Given the description of an element on the screen output the (x, y) to click on. 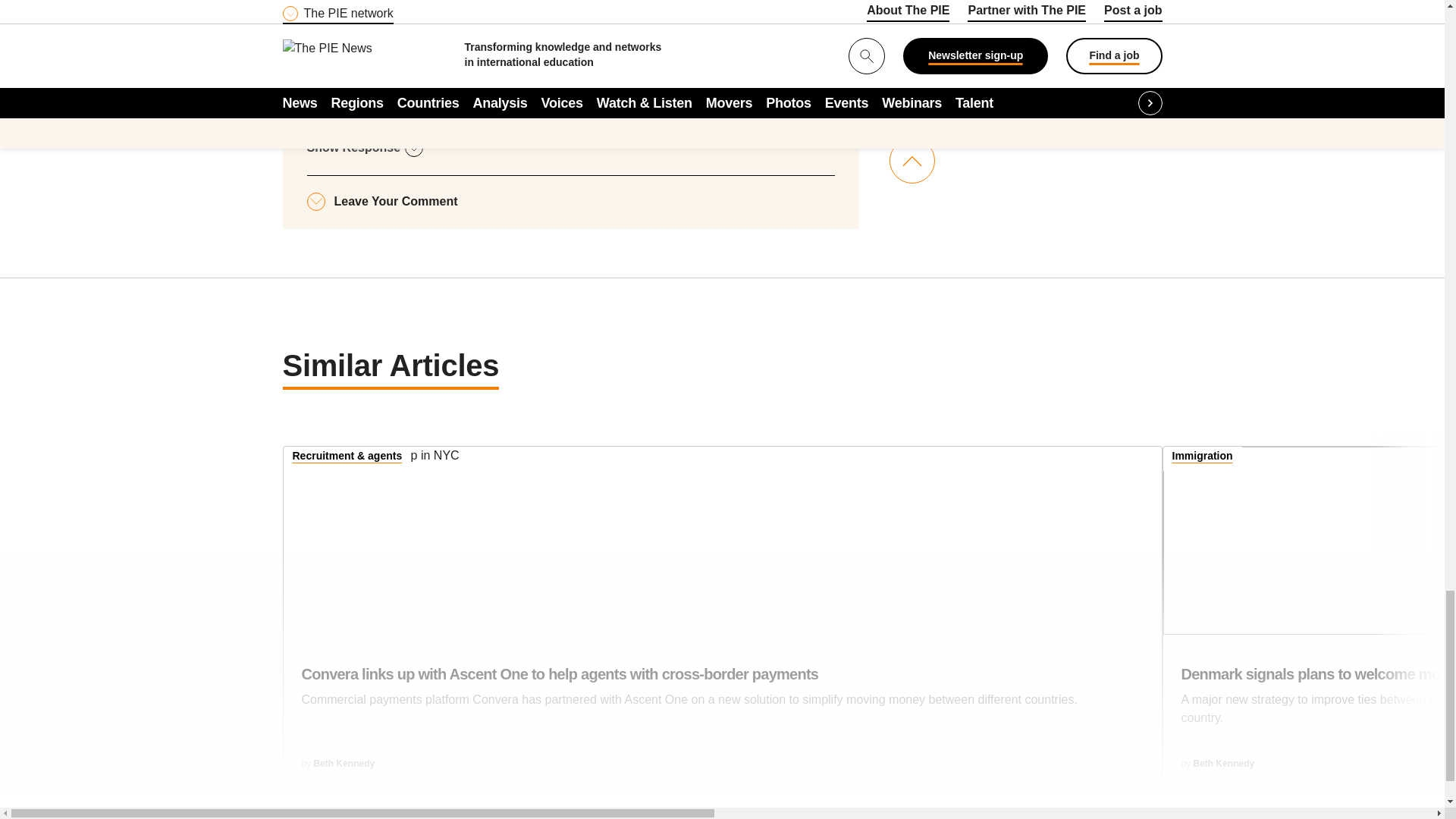
Denmark signals plans to welcome more students from Africa (1318, 704)
Denmark signals plans to welcome more students from Africa (1309, 540)
View all Immigration articles (1202, 457)
